Given the description of an element on the screen output the (x, y) to click on. 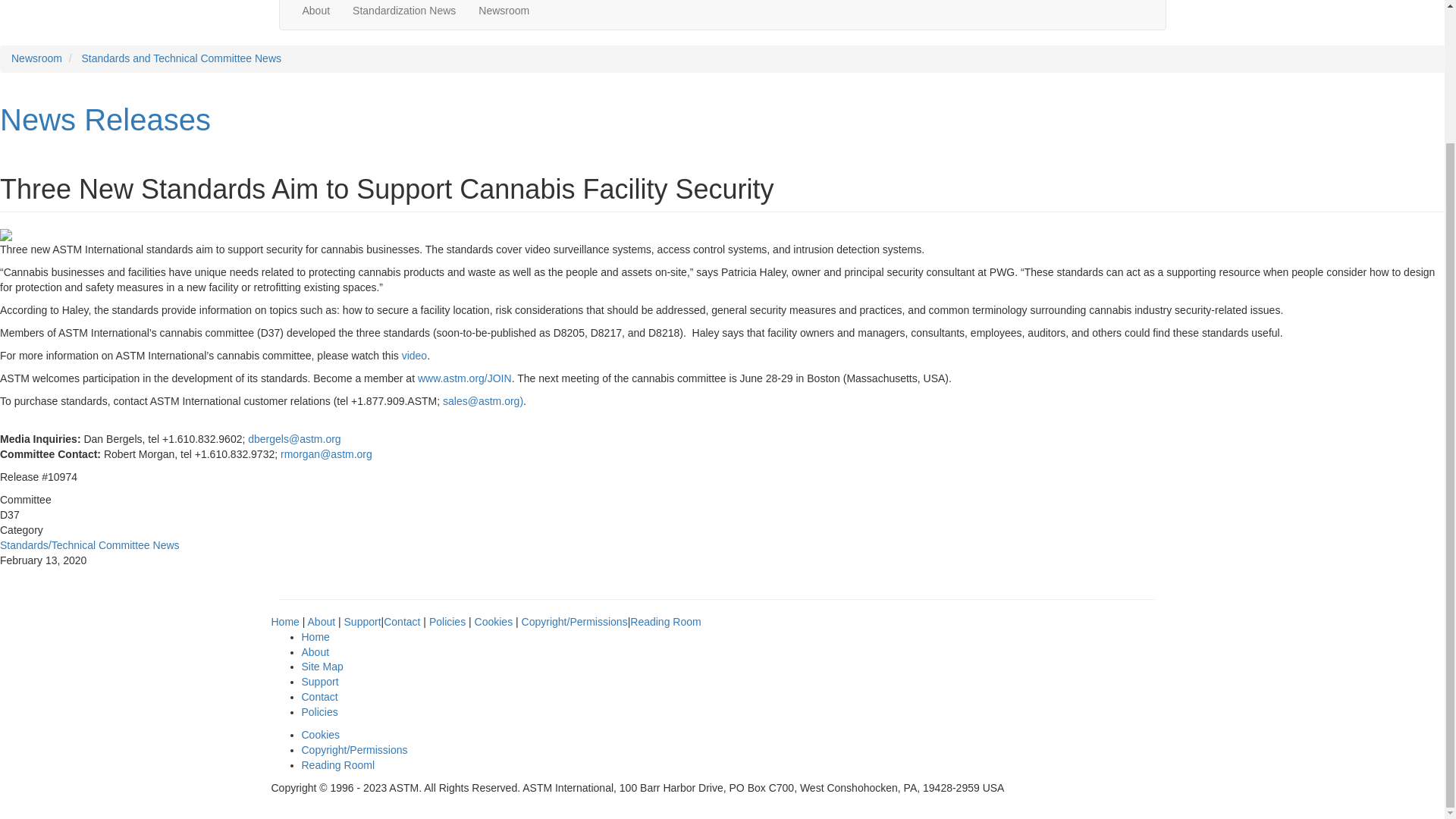
video (413, 355)
Home (284, 621)
Home (315, 636)
Support (362, 621)
Newsroom (36, 58)
Standardization News (403, 14)
Reading Rooml (338, 765)
About (316, 14)
Standardization News (403, 14)
Newsroom (503, 14)
Policies (319, 711)
About (321, 621)
Cookies (320, 734)
Contact (319, 696)
Policies (447, 621)
